Given the description of an element on the screen output the (x, y) to click on. 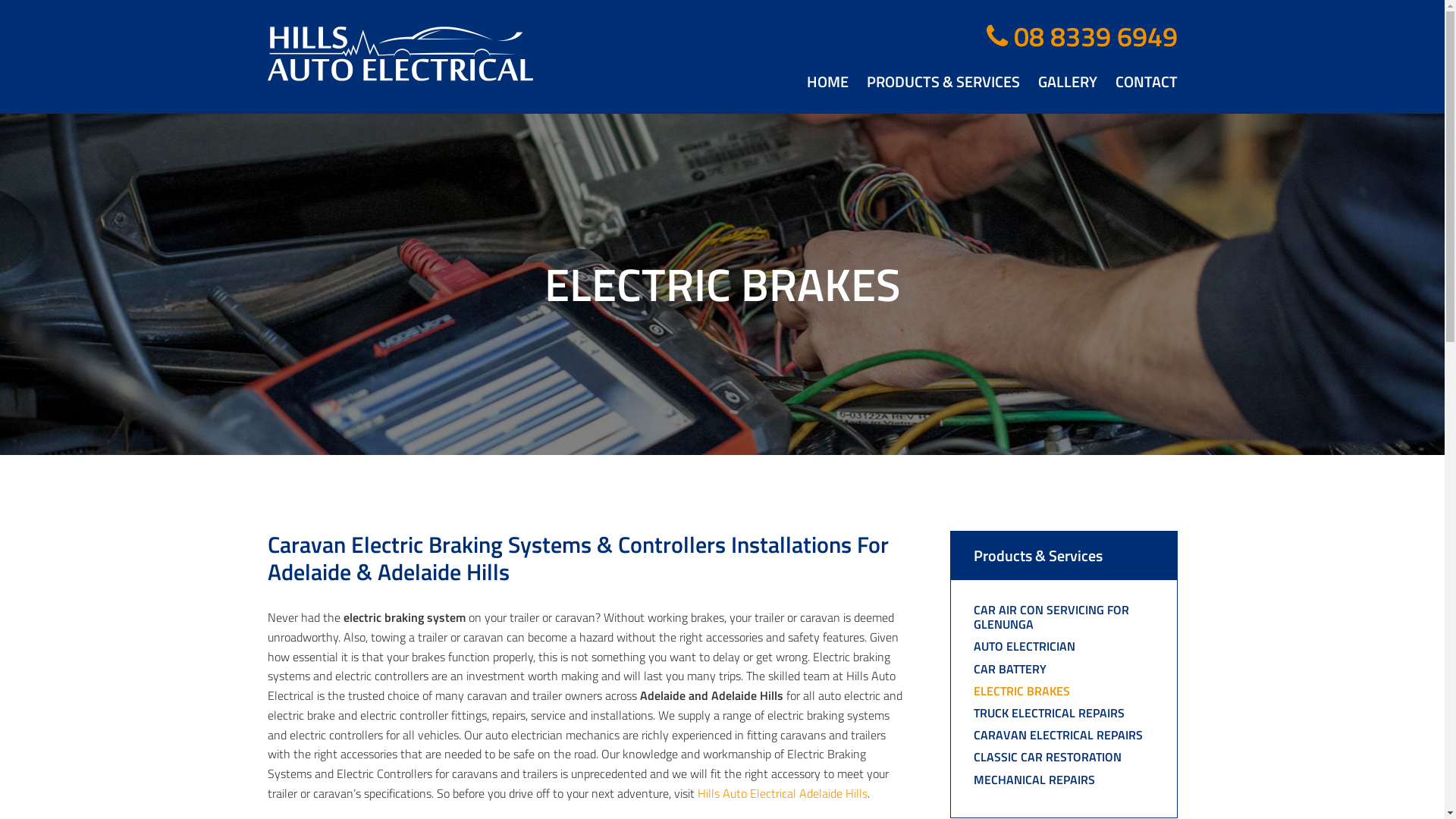
Hills Auto Electrical Adelaide Hills Element type: text (782, 793)
TRUCK ELECTRICAL REPAIRS Element type: text (1048, 712)
PRODUCTS & SERVICES Element type: text (942, 81)
CARAVAN ELECTRICAL REPAIRS Element type: text (1057, 734)
AUTO ELECTRICIAN Element type: text (1024, 646)
GALLERY Element type: text (1066, 81)
MECHANICAL REPAIRS Element type: text (1034, 779)
Products & Services Element type: text (1037, 555)
ELECTRIC BRAKES Element type: text (1021, 690)
CLASSIC CAR RESTORATION Element type: text (1047, 756)
CONTACT Element type: text (1145, 81)
HOME Element type: text (827, 81)
CAR BATTERY Element type: text (1009, 668)
CAR AIR CON SERVICING FOR GLENUNGA Element type: text (1051, 616)
